Given the description of an element on the screen output the (x, y) to click on. 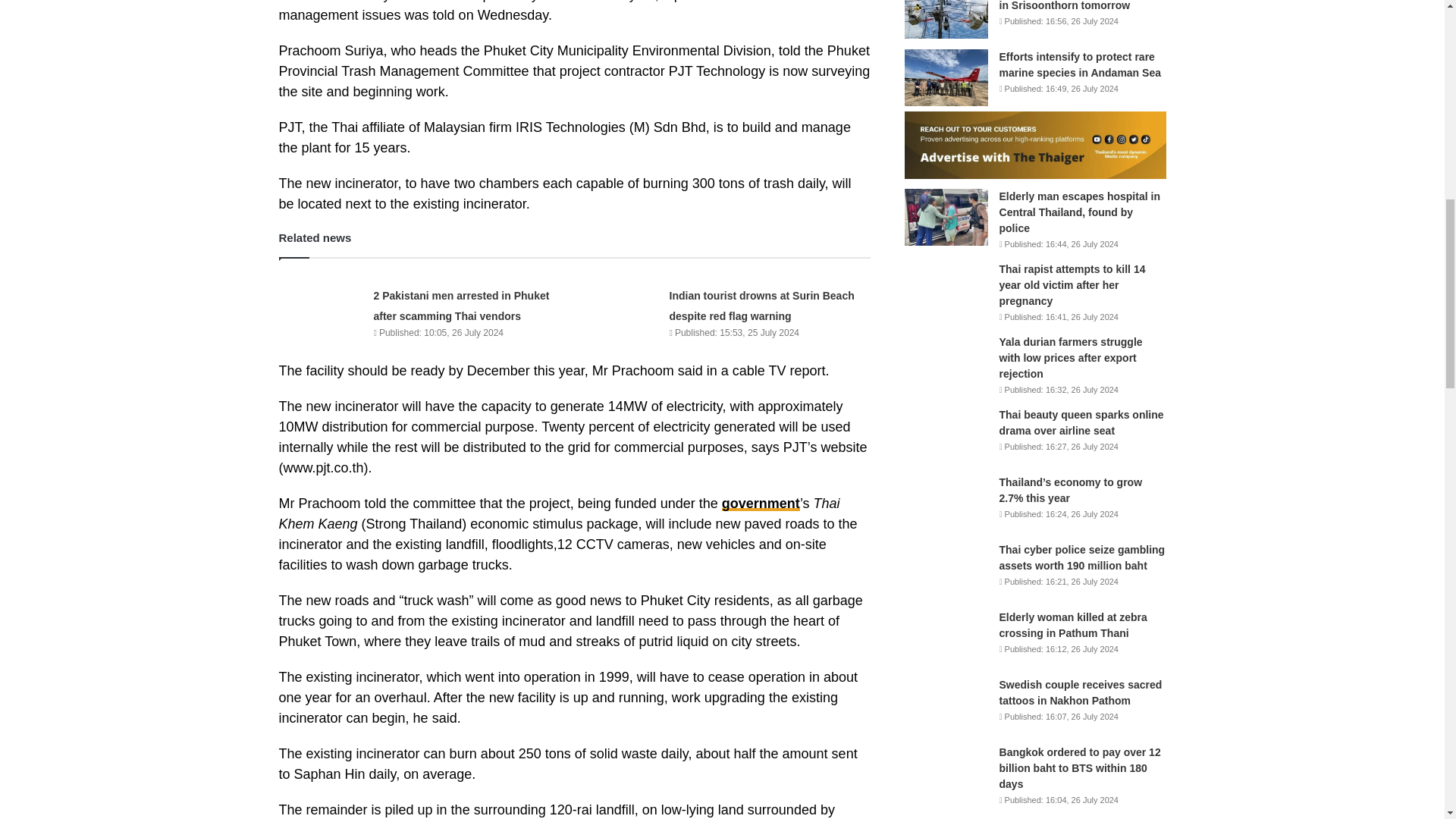
Politics (760, 503)
